Given the description of an element on the screen output the (x, y) to click on. 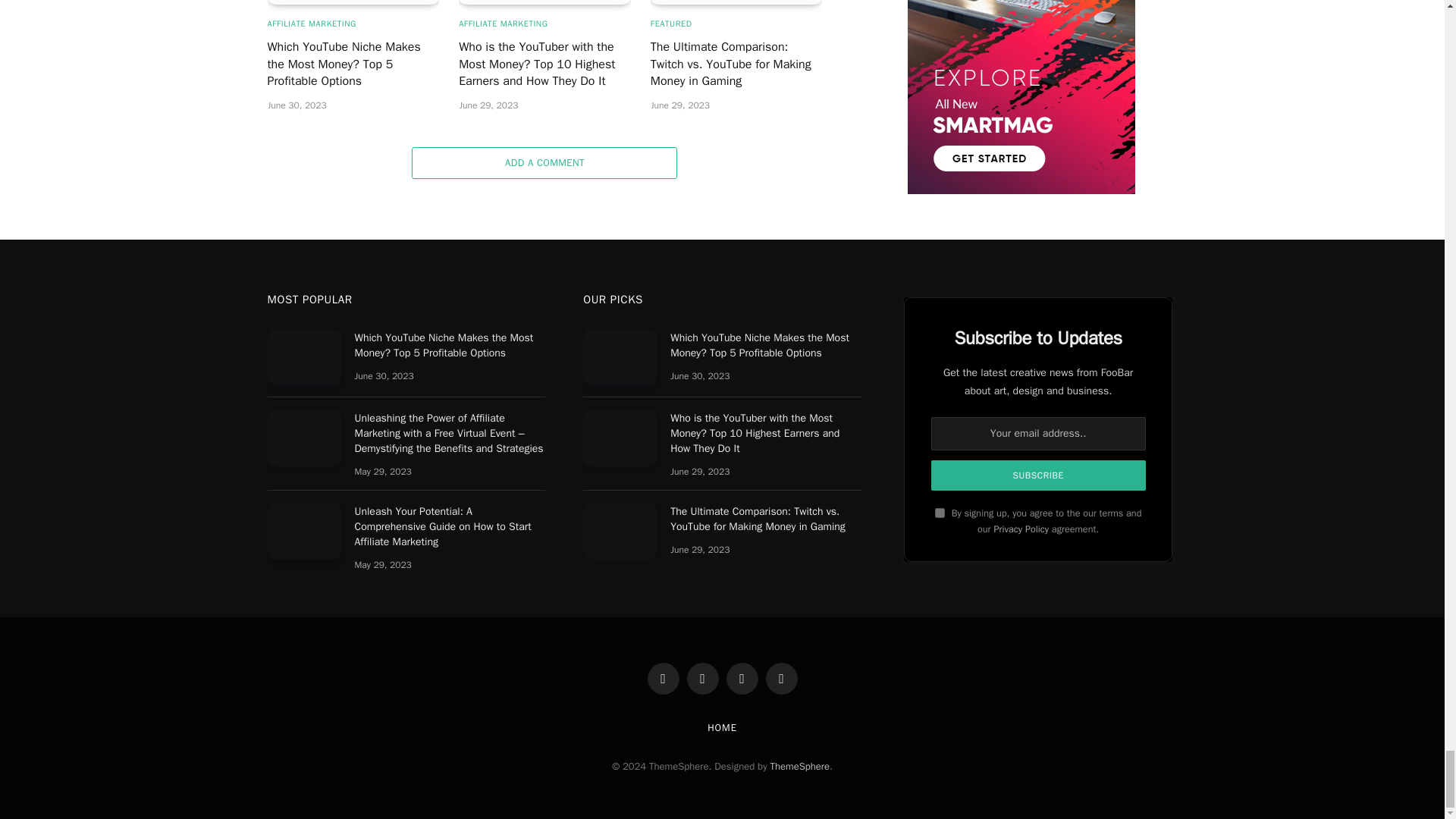
Subscribe (1038, 475)
on (939, 512)
